Given the description of an element on the screen output the (x, y) to click on. 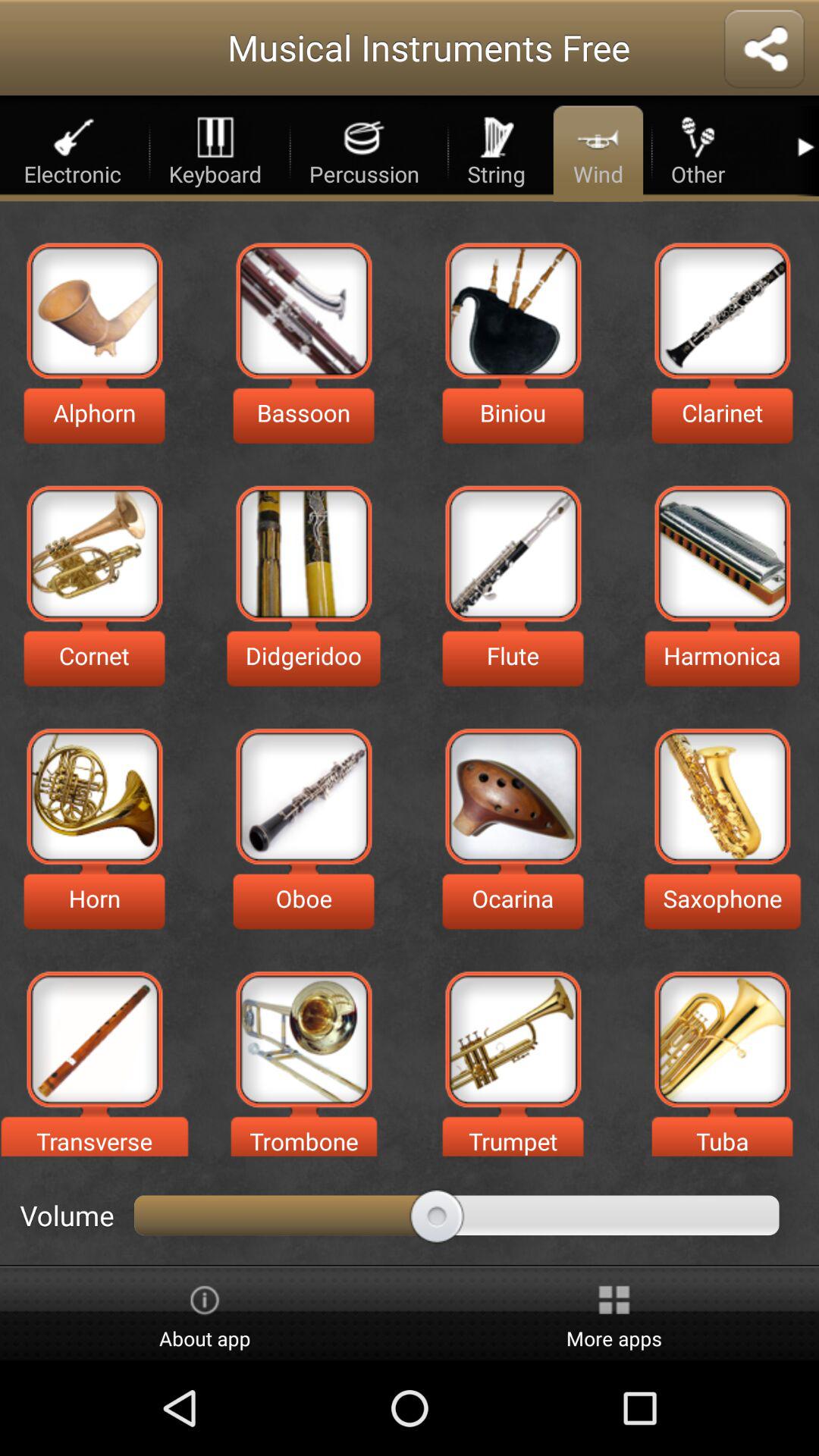
select option (94, 796)
